Given the description of an element on the screen output the (x, y) to click on. 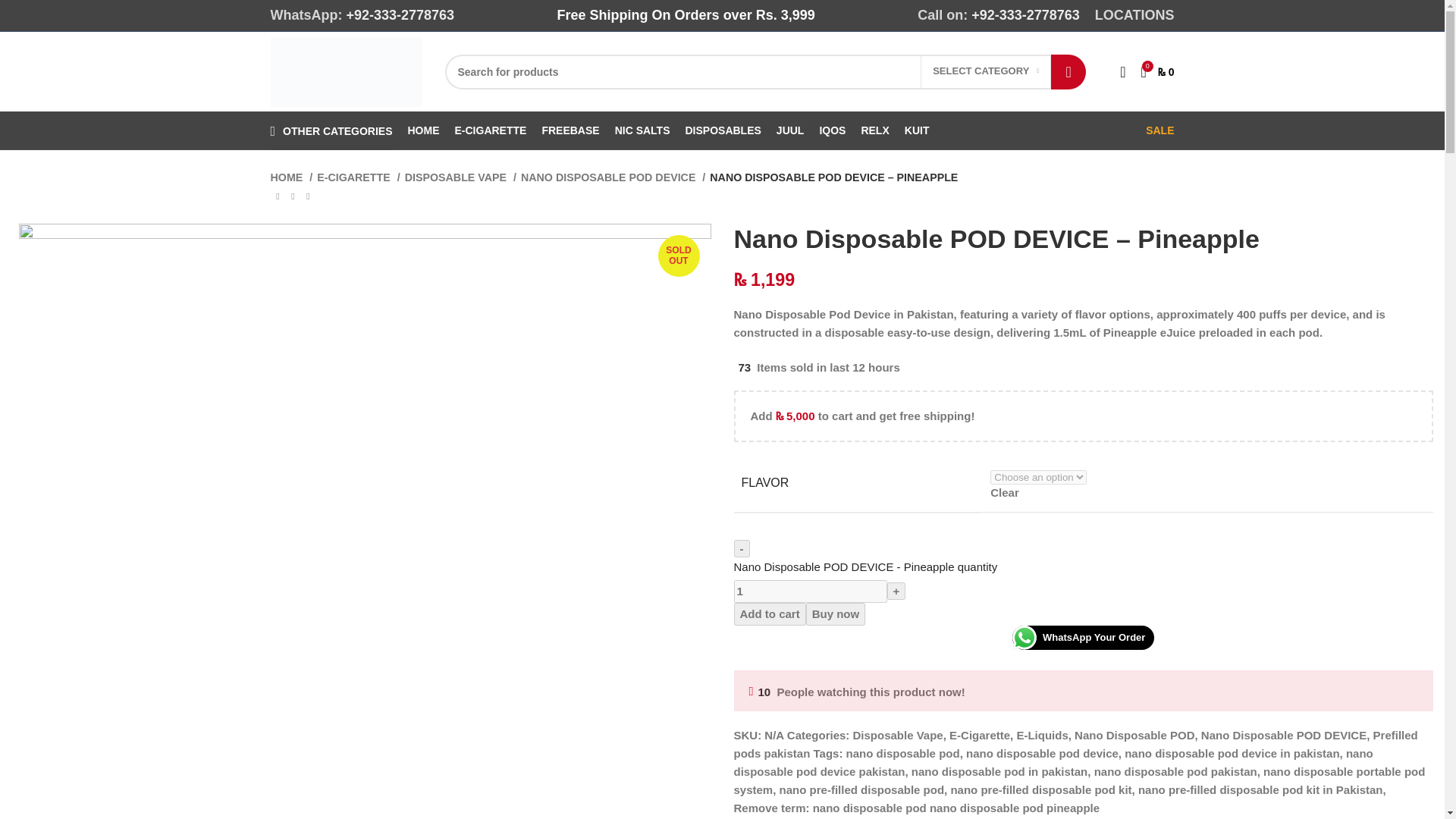
1 (809, 590)
- (741, 548)
SELECT CATEGORY (985, 71)
LOCATIONS (1134, 15)
SELECT CATEGORY (985, 71)
Shopping cart (1156, 71)
Search for products (765, 71)
